Given the description of an element on the screen output the (x, y) to click on. 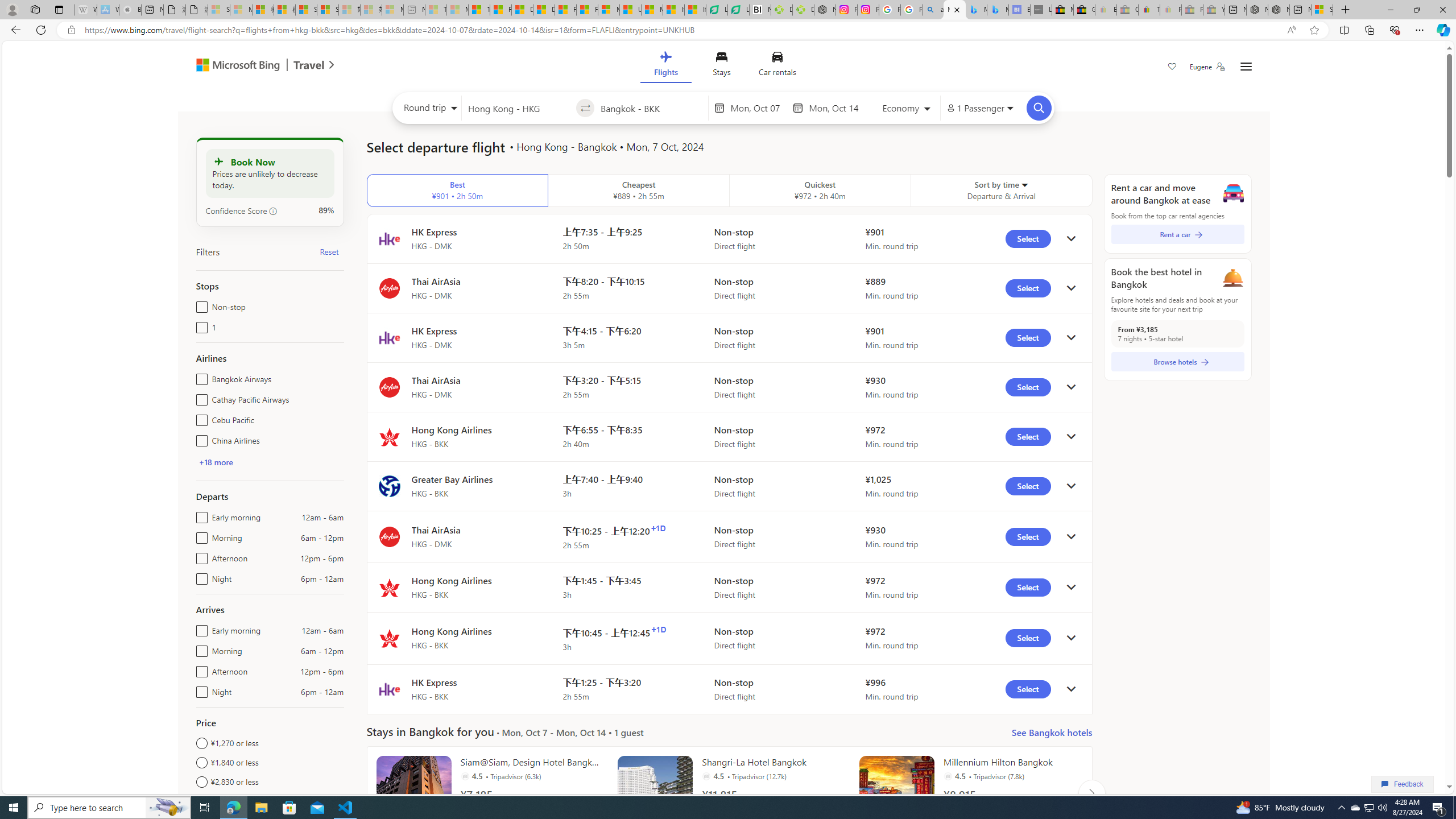
Select class of service (906, 109)
Microsoft Bing Travel - Flights from Hong Kong to Bangkok (954, 9)
China Airlines (199, 438)
